Given the description of an element on the screen output the (x, y) to click on. 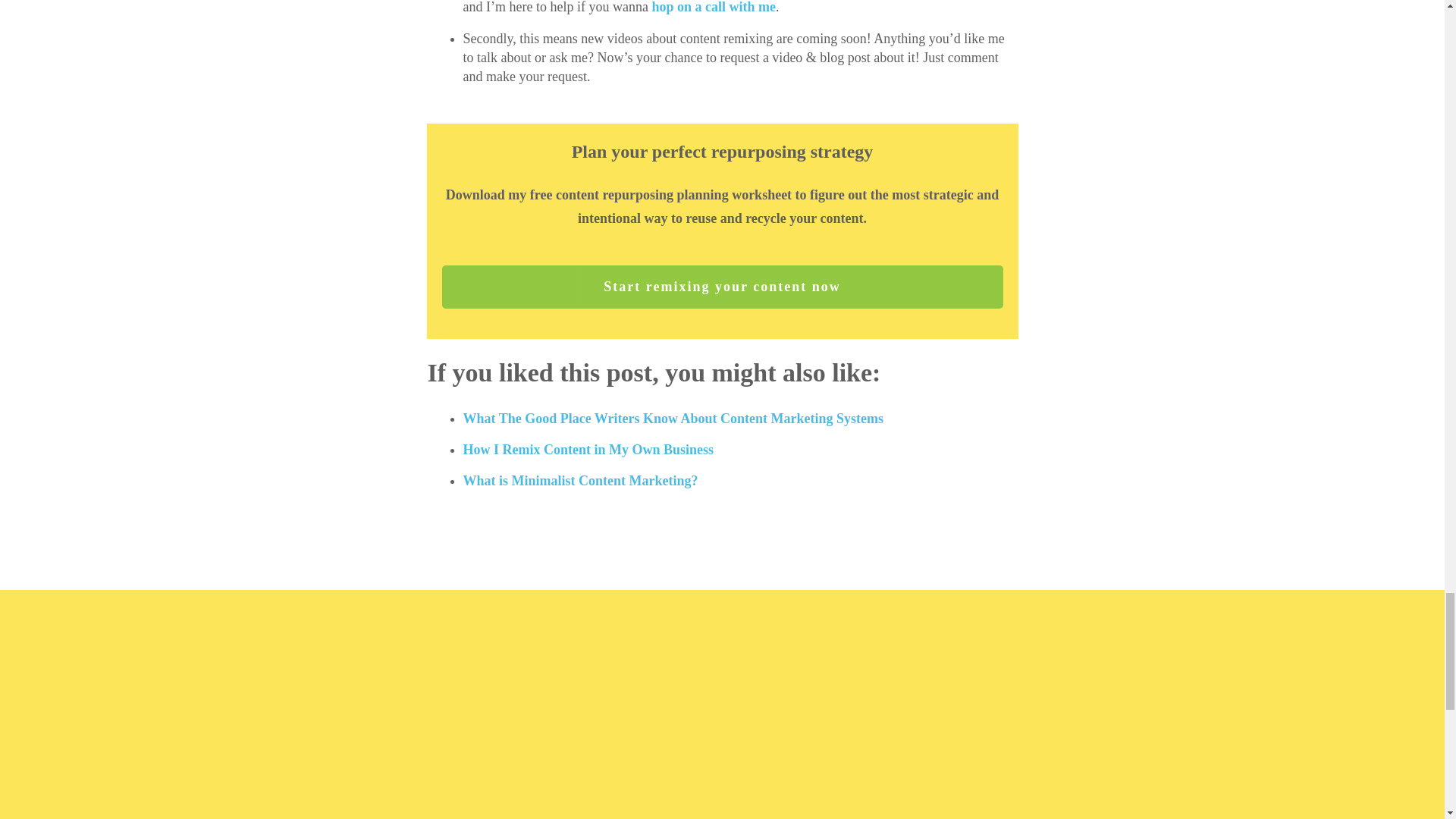
What is Minimalist Content Marketing? (580, 480)
Start remixing your content now (722, 287)
hop on a call with me (713, 7)
How I Remix Content in My Own Business (588, 449)
